Given the description of an element on the screen output the (x, y) to click on. 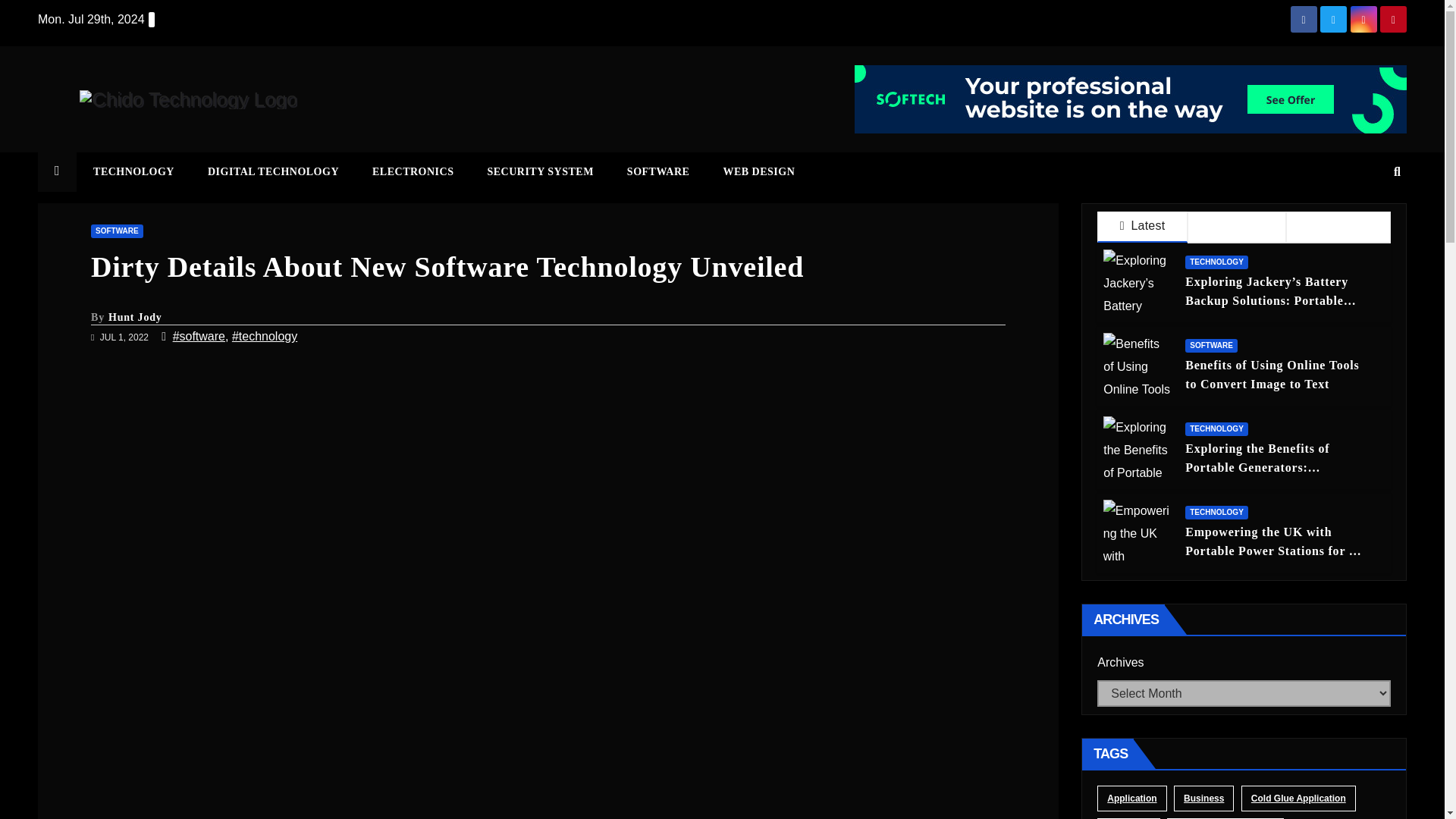
TECHNOLOGY (133, 171)
Software (658, 171)
Electronics (412, 171)
SECURITY SYSTEM (540, 171)
Web Design (758, 171)
DIGITAL TECHNOLOGY (272, 171)
WEB DESIGN (758, 171)
ELECTRONICS (412, 171)
SOFTWARE (658, 171)
Security System (540, 171)
Dirty Details About New Software Technology Unveiled (446, 266)
SOFTWARE (116, 231)
Hunt Jody (134, 317)
Digital Technology (272, 171)
